Given the description of an element on the screen output the (x, y) to click on. 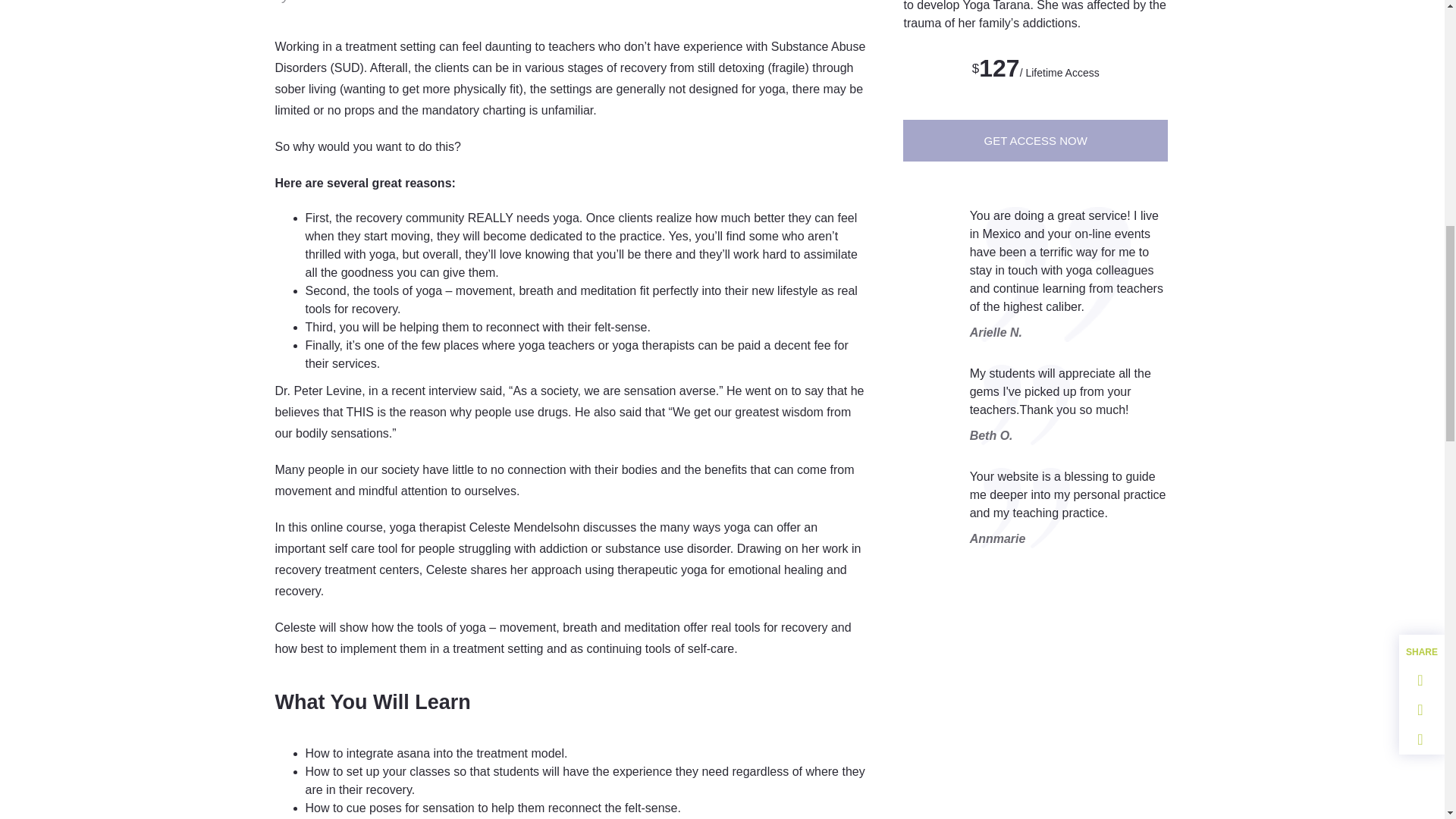
by Celeste Mendelsohn (345, 2)
GET ACCESS NOW (1034, 140)
